Given the description of an element on the screen output the (x, y) to click on. 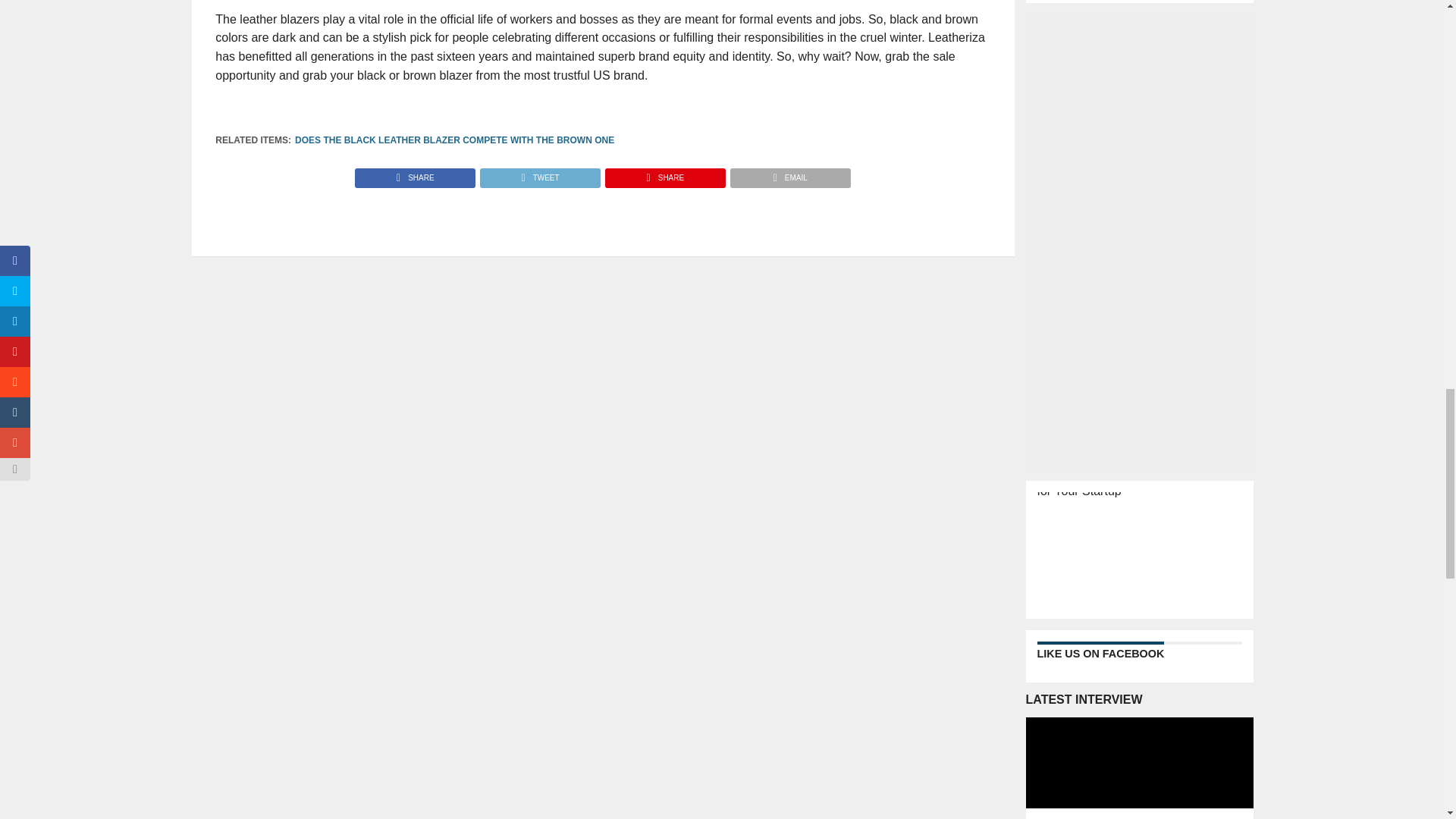
Tweet This Post (539, 173)
Pin This Post (664, 173)
Share on Facebook (415, 173)
